Given the description of an element on the screen output the (x, y) to click on. 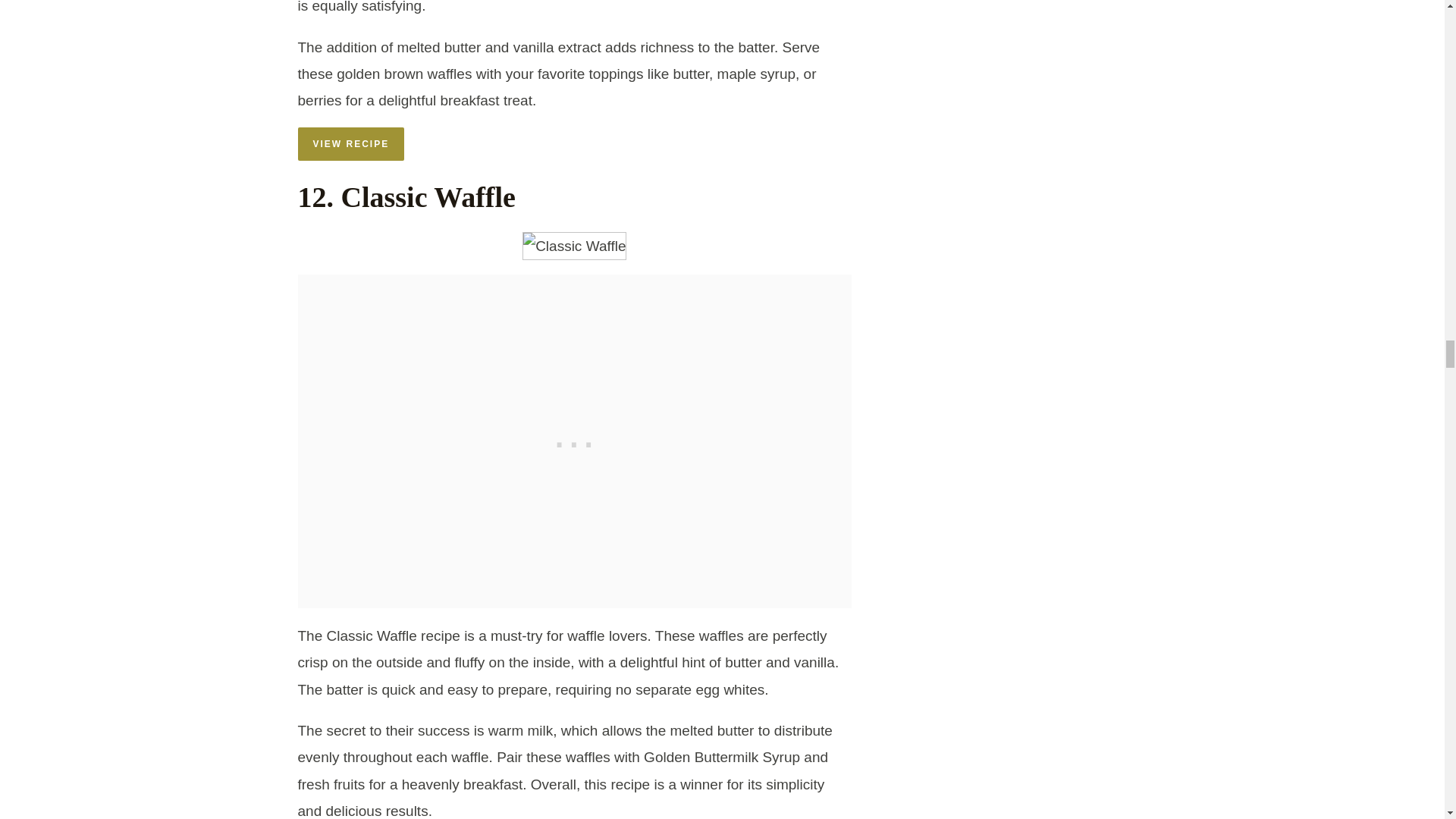
Classic Waffle (574, 245)
VIEW RECIPE (350, 143)
